Given the description of an element on the screen output the (x, y) to click on. 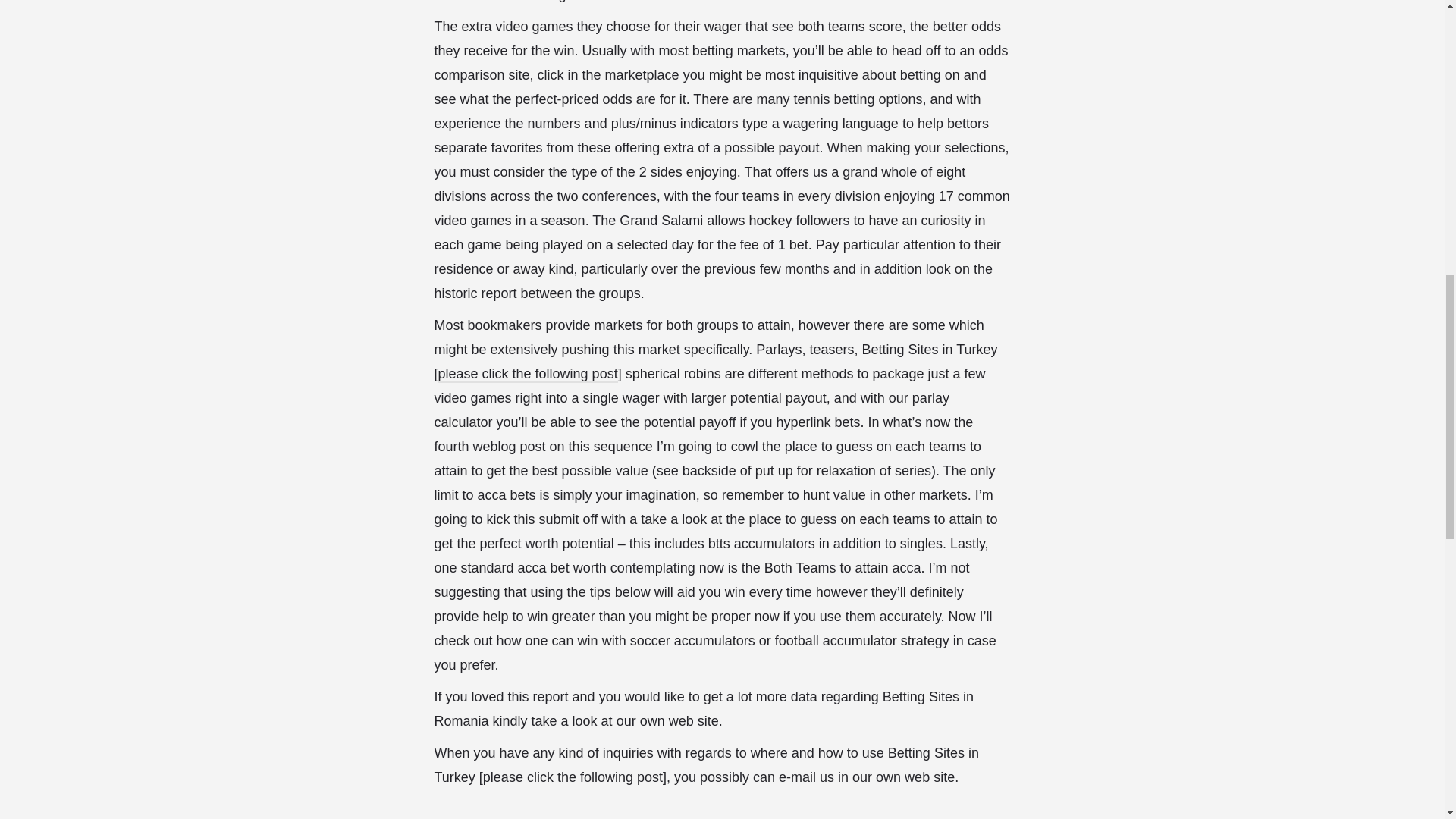
please click the following post (527, 374)
